Given the description of an element on the screen output the (x, y) to click on. 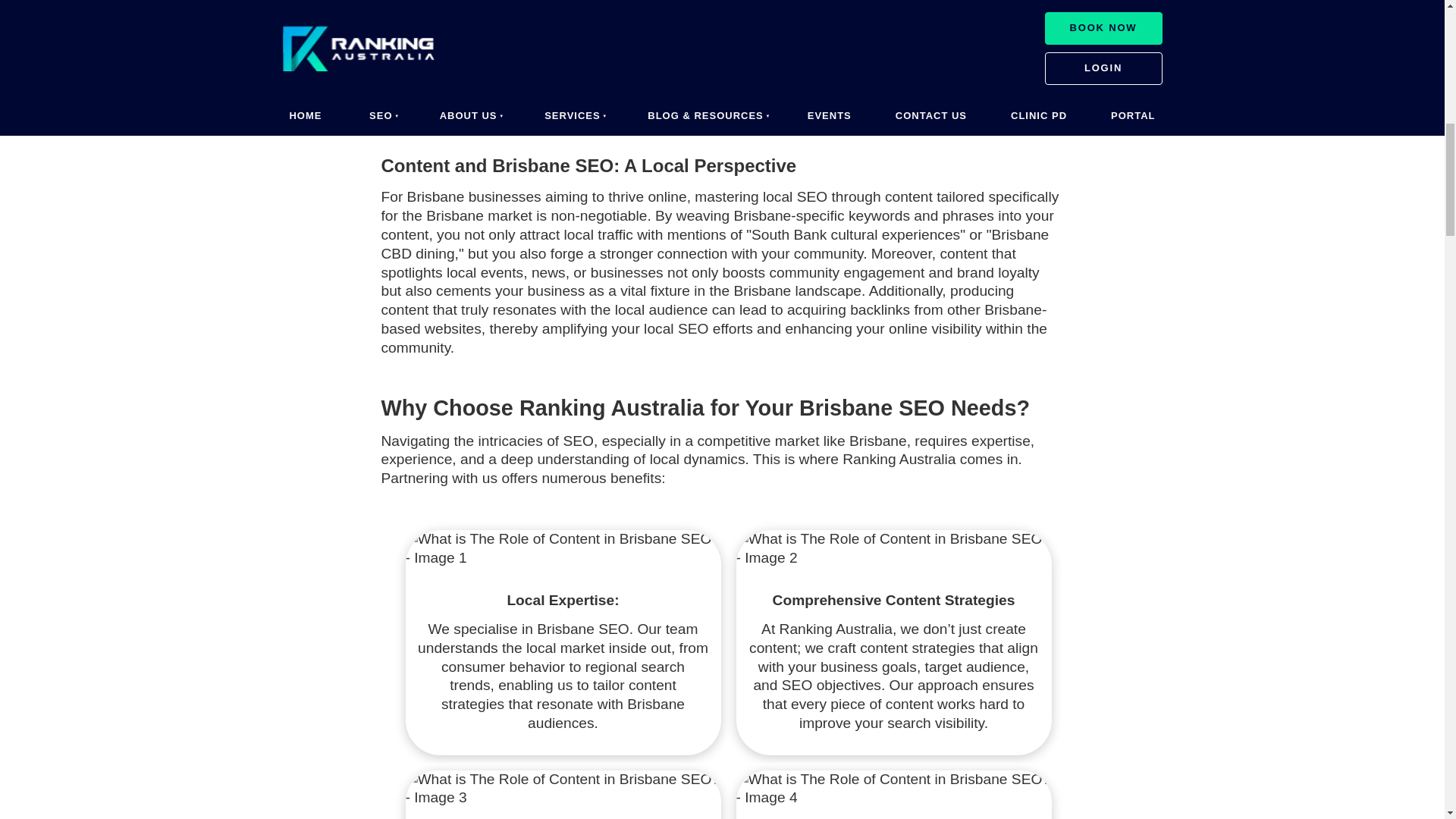
What is The Role of Content in Brisbane SEO?- Image 4 (893, 789)
What is The Role of Content in Brisbane SEO?- Image 2 (893, 548)
What is The Role of Content in Brisbane SEO?- Image 3 (562, 789)
What is The Role of Content in Brisbane SEO?- Image 1 (562, 548)
